Given the description of an element on the screen output the (x, y) to click on. 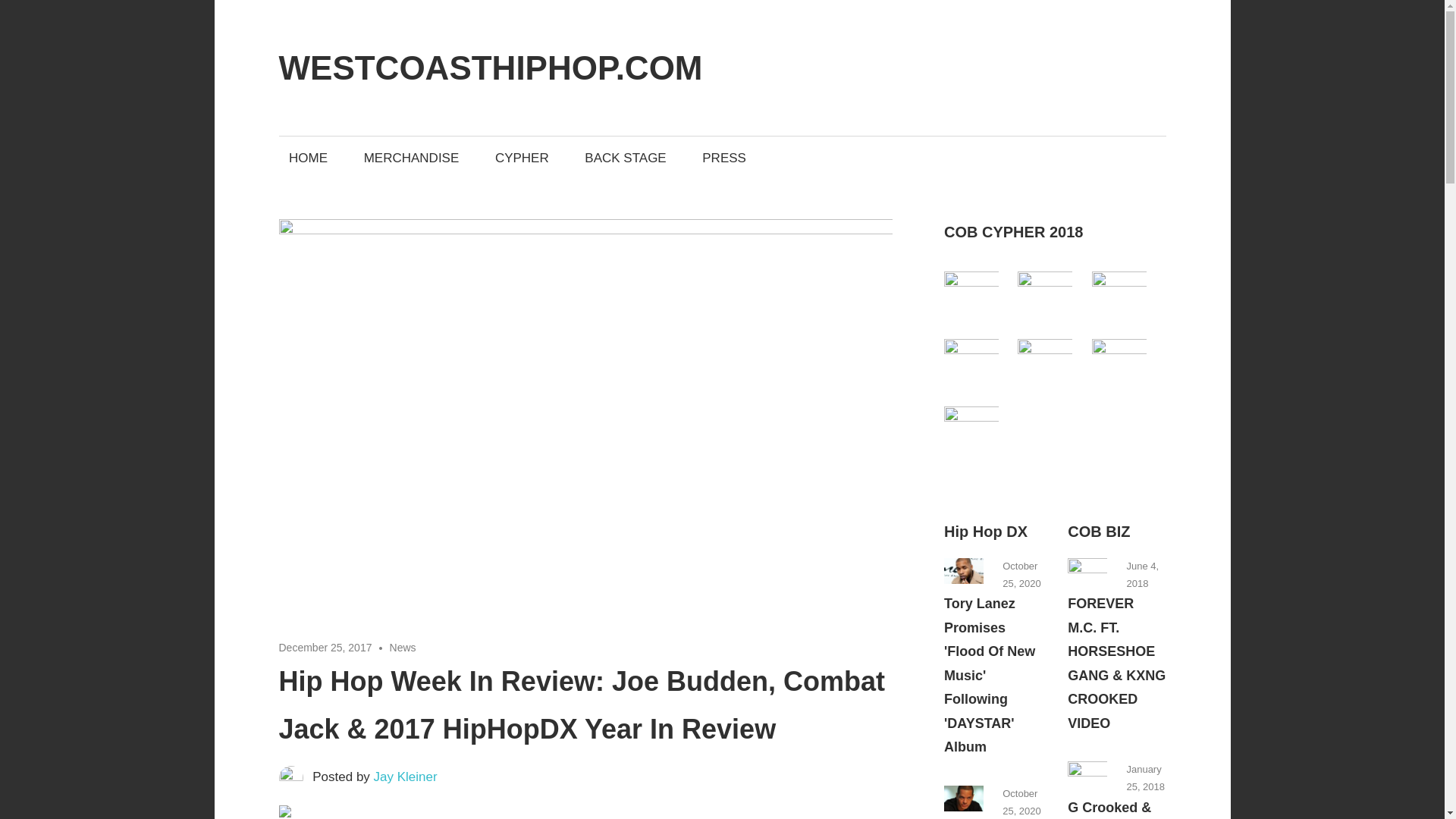
View all posts by Jay Kleiner (406, 776)
News (403, 647)
1:00 pm (1022, 574)
HOME (308, 157)
12:41 pm (1022, 801)
WESTCOASTHIPHOP.COM (491, 67)
Jay Kleiner (406, 776)
6:27 am (1144, 777)
December 25, 2017 (325, 647)
View all posts from category Horseshoe GANG (1098, 531)
MERCHANDISE (410, 157)
BACK STAGE (626, 157)
View all posts from category News (985, 531)
7:22 am (1141, 574)
